Given the description of an element on the screen output the (x, y) to click on. 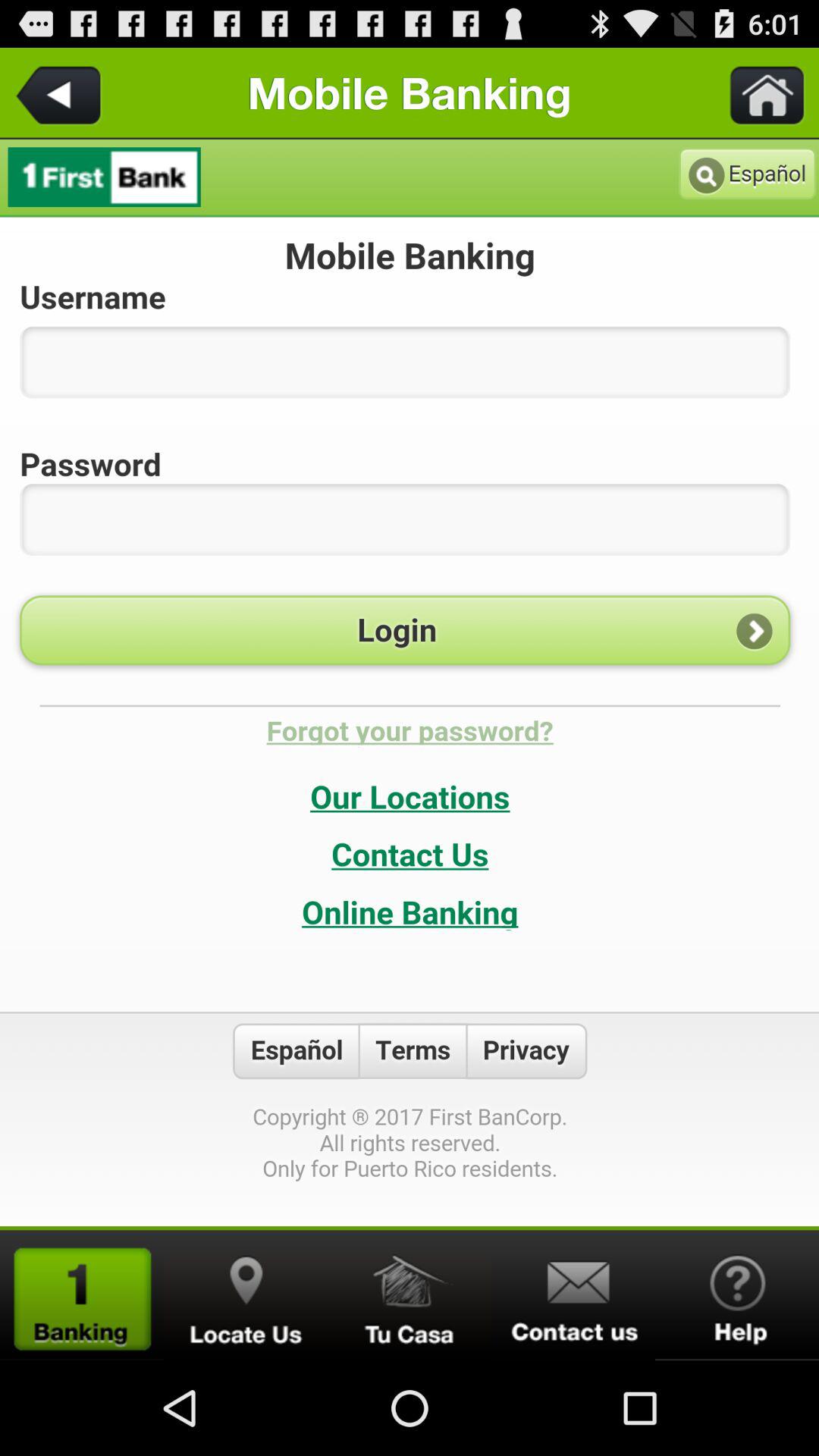
back (61, 92)
